Given the description of an element on the screen output the (x, y) to click on. 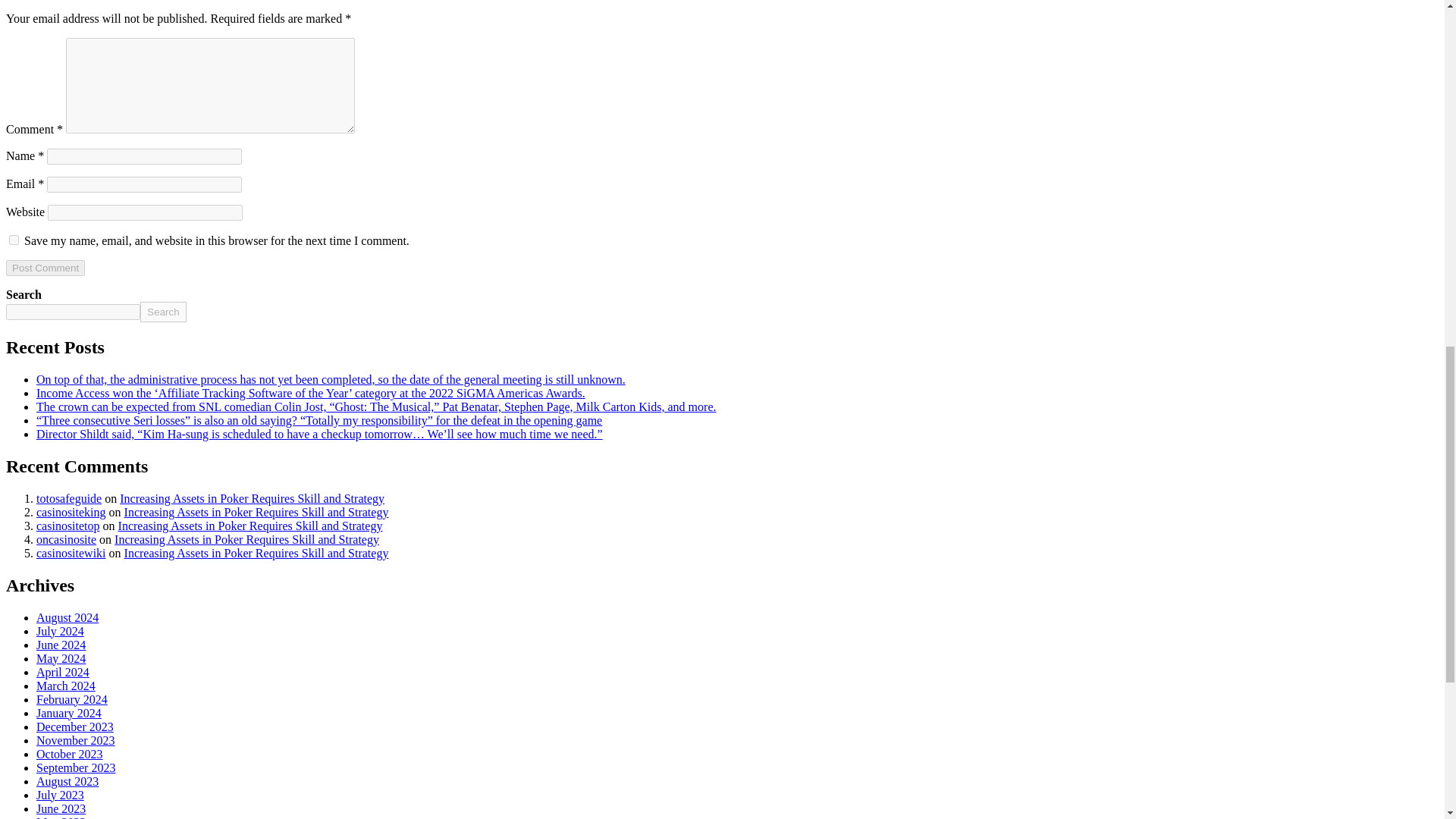
July 2024 (60, 631)
yes (13, 239)
December 2023 (74, 726)
Increasing Assets in Poker Requires Skill and Strategy (249, 525)
August 2024 (67, 617)
January 2024 (68, 712)
November 2023 (75, 739)
casinositeking (71, 512)
Post Comment (44, 268)
Increasing Assets in Poker Requires Skill and Strategy (255, 512)
